Given the description of an element on the screen output the (x, y) to click on. 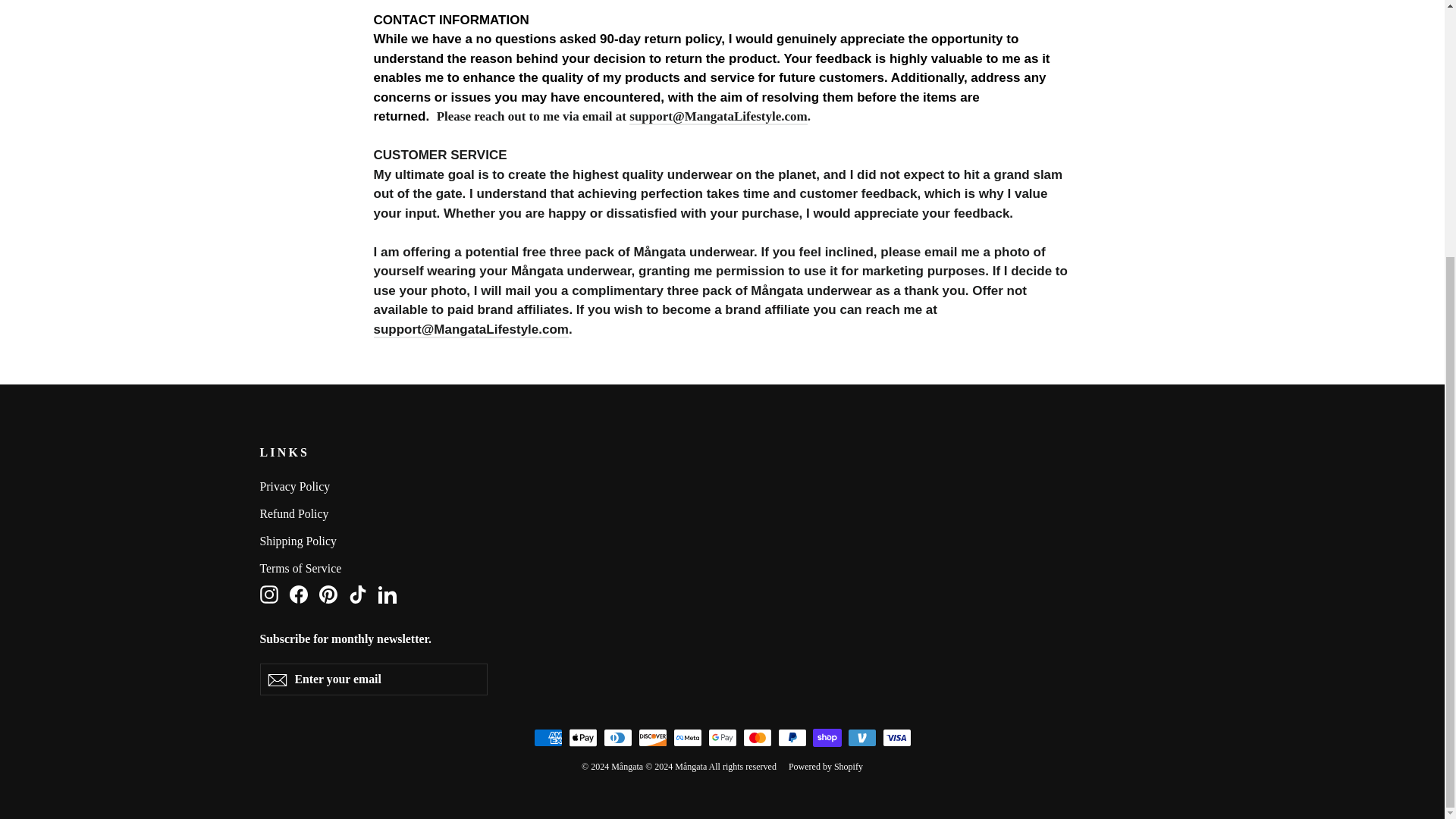
Google Pay (721, 737)
Shipping Policy (722, 541)
Apple Pay (582, 737)
Refund Policy (722, 514)
icon-email (276, 679)
Terms of Service (268, 593)
PayPal (722, 568)
instagram (791, 737)
Visa (268, 594)
